Given the description of an element on the screen output the (x, y) to click on. 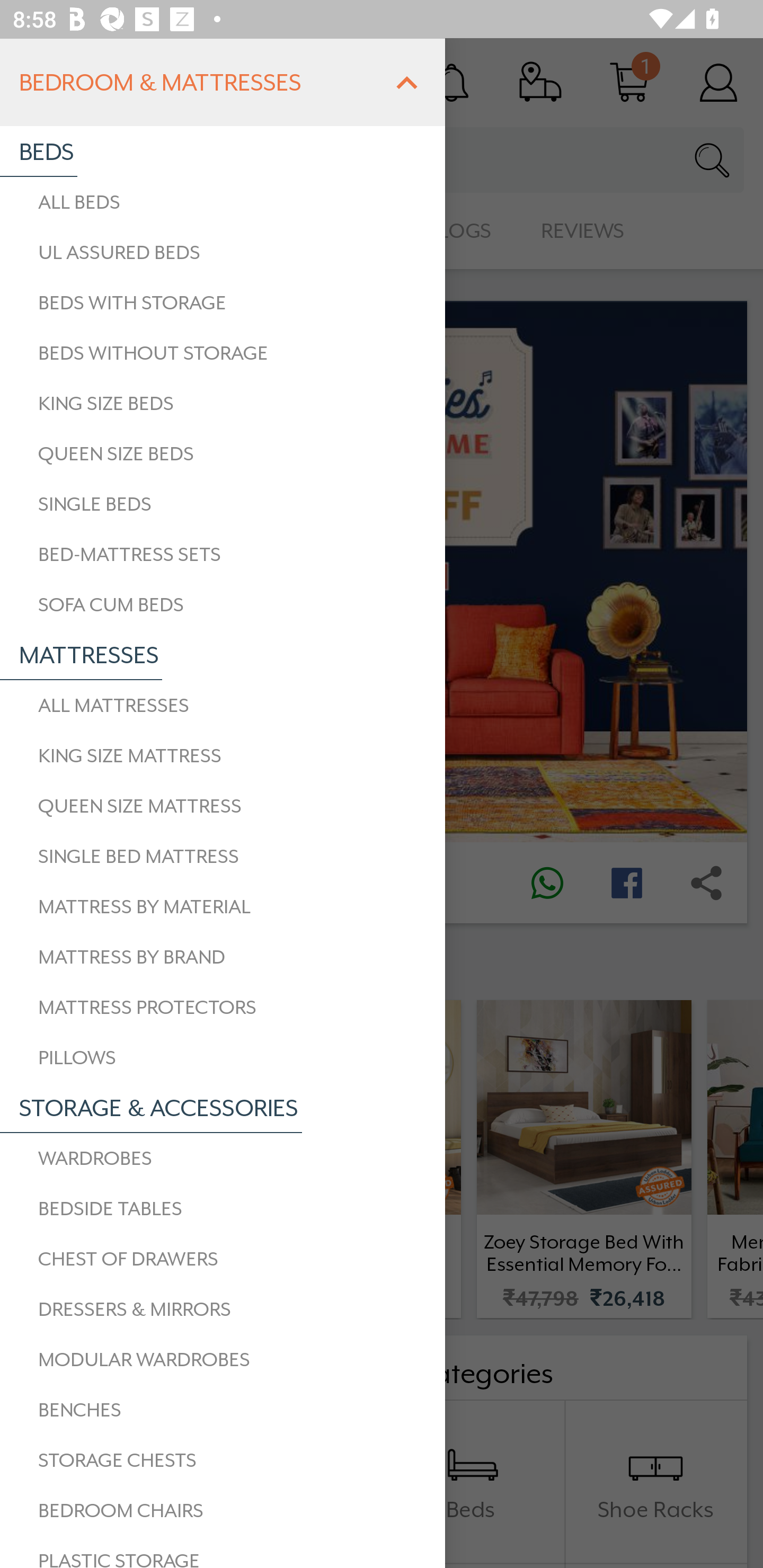
BEDROOM & MATTRESSES  (222, 82)
BEDS (38, 151)
ALL BEDS (222, 202)
UL ASSURED BEDS (222, 252)
BEDS WITH STORAGE (222, 302)
BEDS WITHOUT STORAGE (222, 353)
KING SIZE BEDS (222, 403)
QUEEN SIZE BEDS (222, 453)
SINGLE BEDS (222, 503)
BED-MATTRESS SETS (222, 554)
SOFA CUM BEDS (222, 605)
MATTRESSES (80, 655)
ALL MATTRESSES (222, 705)
KING SIZE MATTRESS (222, 755)
QUEEN SIZE MATTRESS (222, 805)
SINGLE BED MATTRESS (222, 856)
MATTRESS BY MATERIAL (222, 906)
MATTRESS BY BRAND (222, 957)
MATTRESS PROTECTORS (222, 1007)
PILLOWS (222, 1057)
STORAGE & ACCESSORIES (151, 1108)
WARDROBES (222, 1158)
BEDSIDE TABLES (222, 1208)
CHEST OF DRAWERS (222, 1259)
DRESSERS & MIRRORS (222, 1309)
MODULAR WARDROBES (222, 1359)
BENCHES (222, 1410)
STORAGE CHESTS (222, 1460)
BEDROOM CHAIRS (222, 1510)
